Given the description of an element on the screen output the (x, y) to click on. 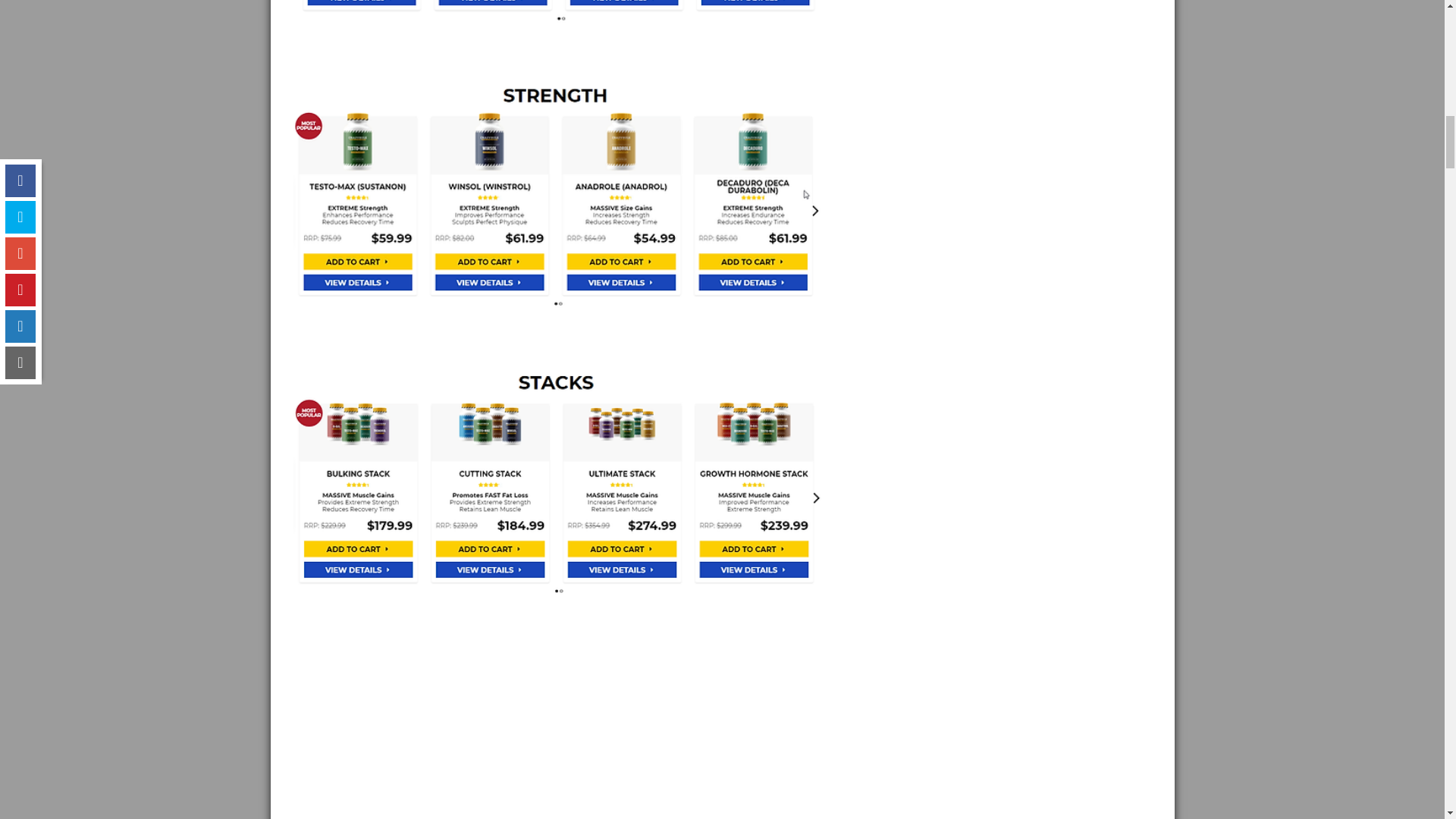
fat for anavar visceral (559, 194)
for visceral fat anavar (559, 13)
